Given the description of an element on the screen output the (x, y) to click on. 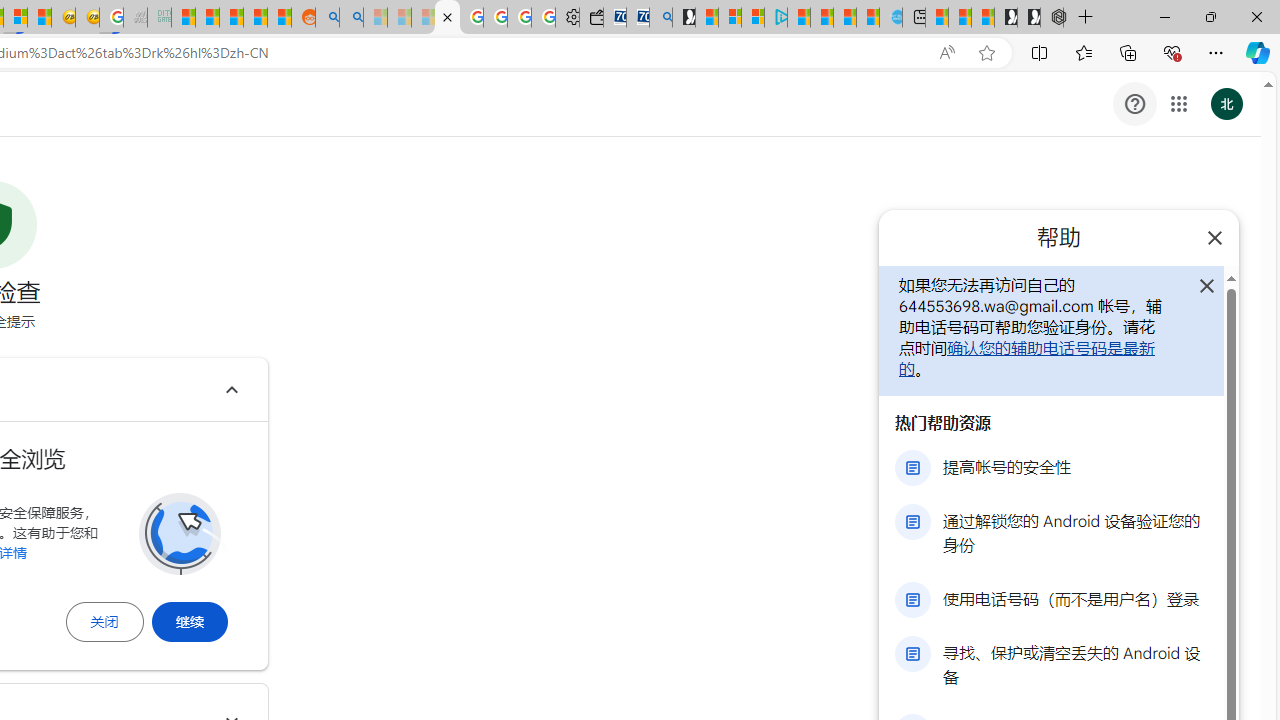
Microsoft account | Privacy (753, 17)
Bing Real Estate - Home sales and rental listings (660, 17)
Microsoft Start Gaming (684, 17)
Wallet (590, 17)
Cheap Car Rentals - Save70.com (637, 17)
